Given the description of an element on the screen output the (x, y) to click on. 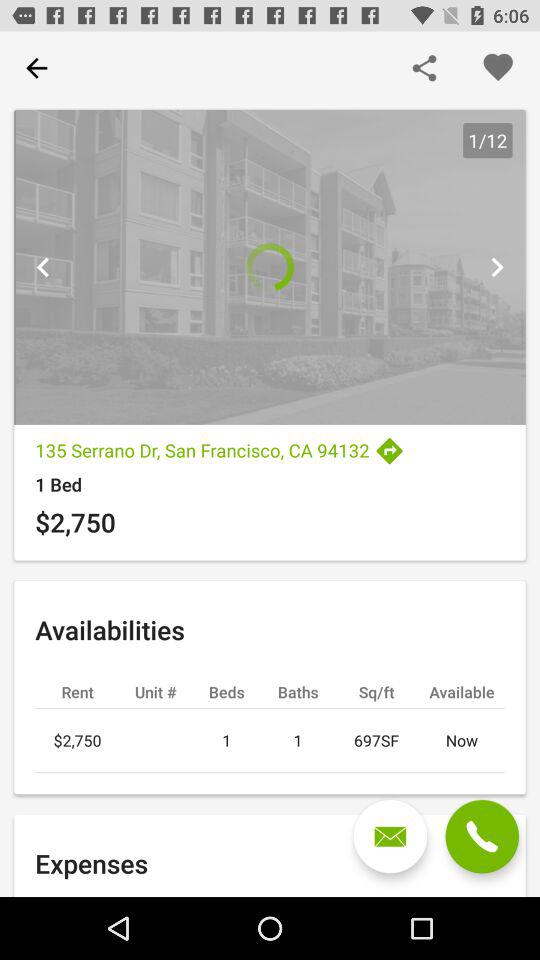
go to share (424, 68)
